Given the description of an element on the screen output the (x, y) to click on. 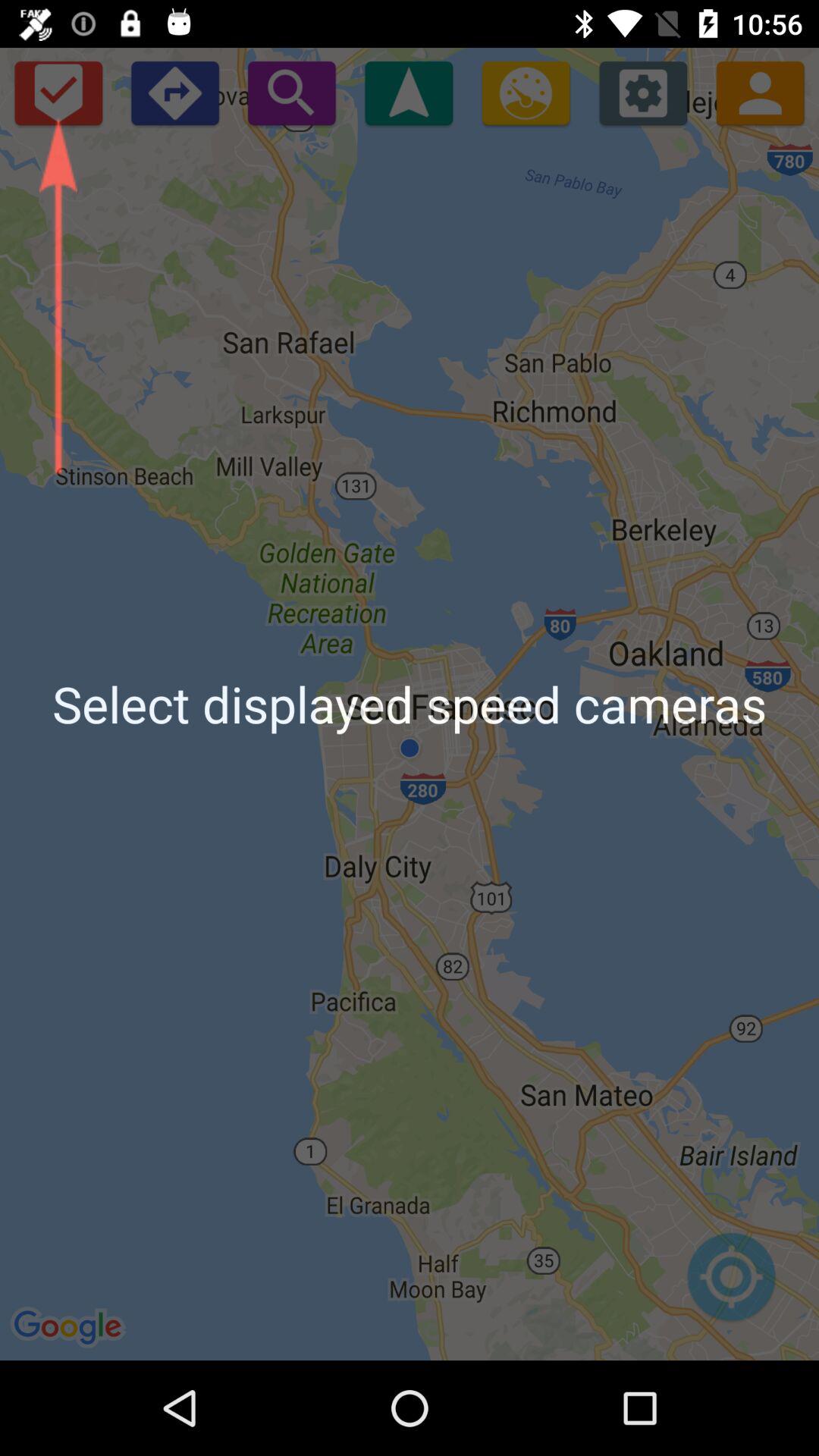
button to navigate center (731, 1284)
